Given the description of an element on the screen output the (x, y) to click on. 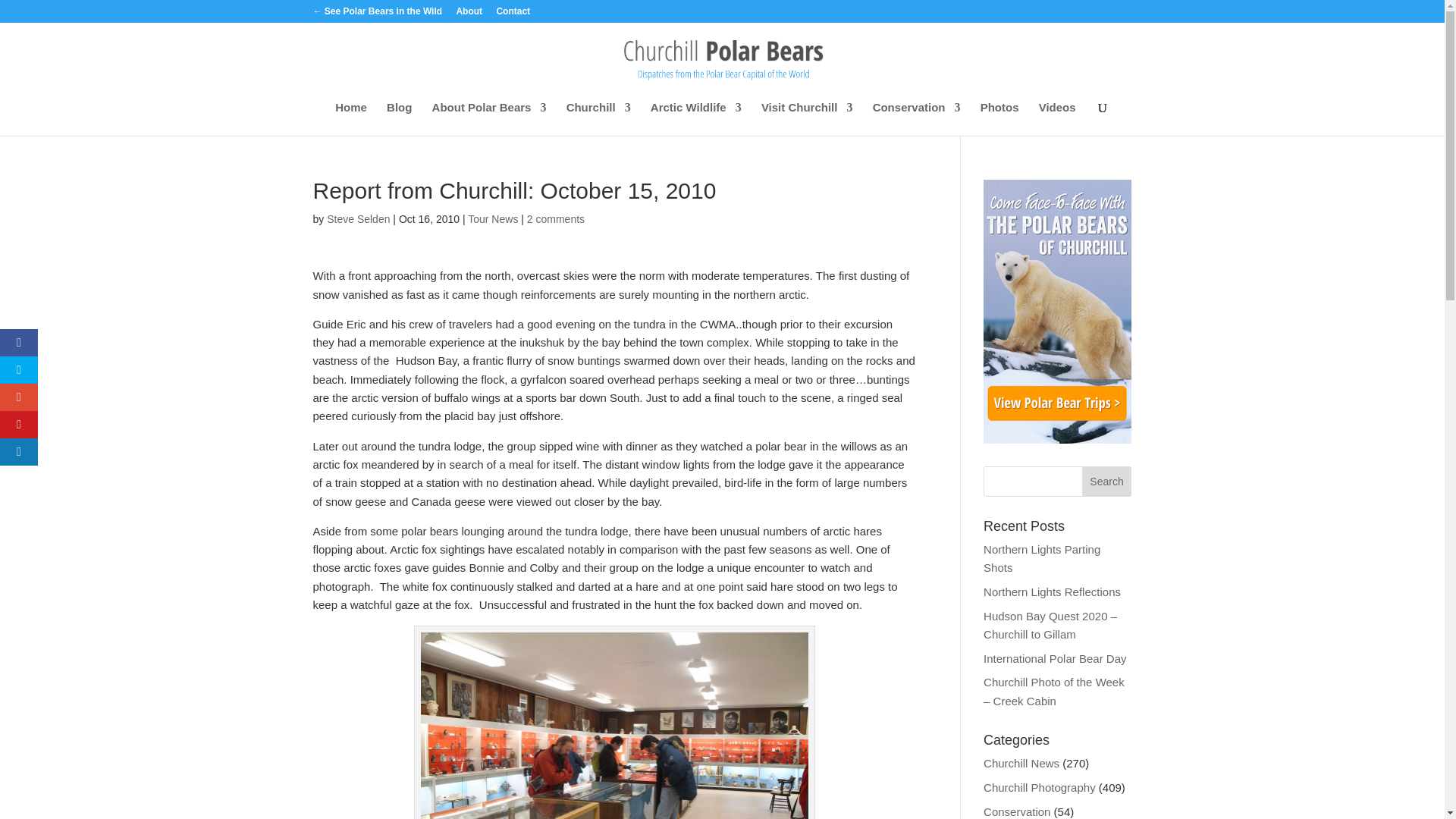
Arctic Wildlife (695, 118)
Conservation (916, 118)
Churchill (598, 118)
About (468, 14)
Home (350, 118)
Posts by Steve Selden (358, 218)
Search (1106, 481)
Contact (512, 14)
About Polar Bears (489, 118)
Visit Churchill (807, 118)
